Given the description of an element on the screen output the (x, y) to click on. 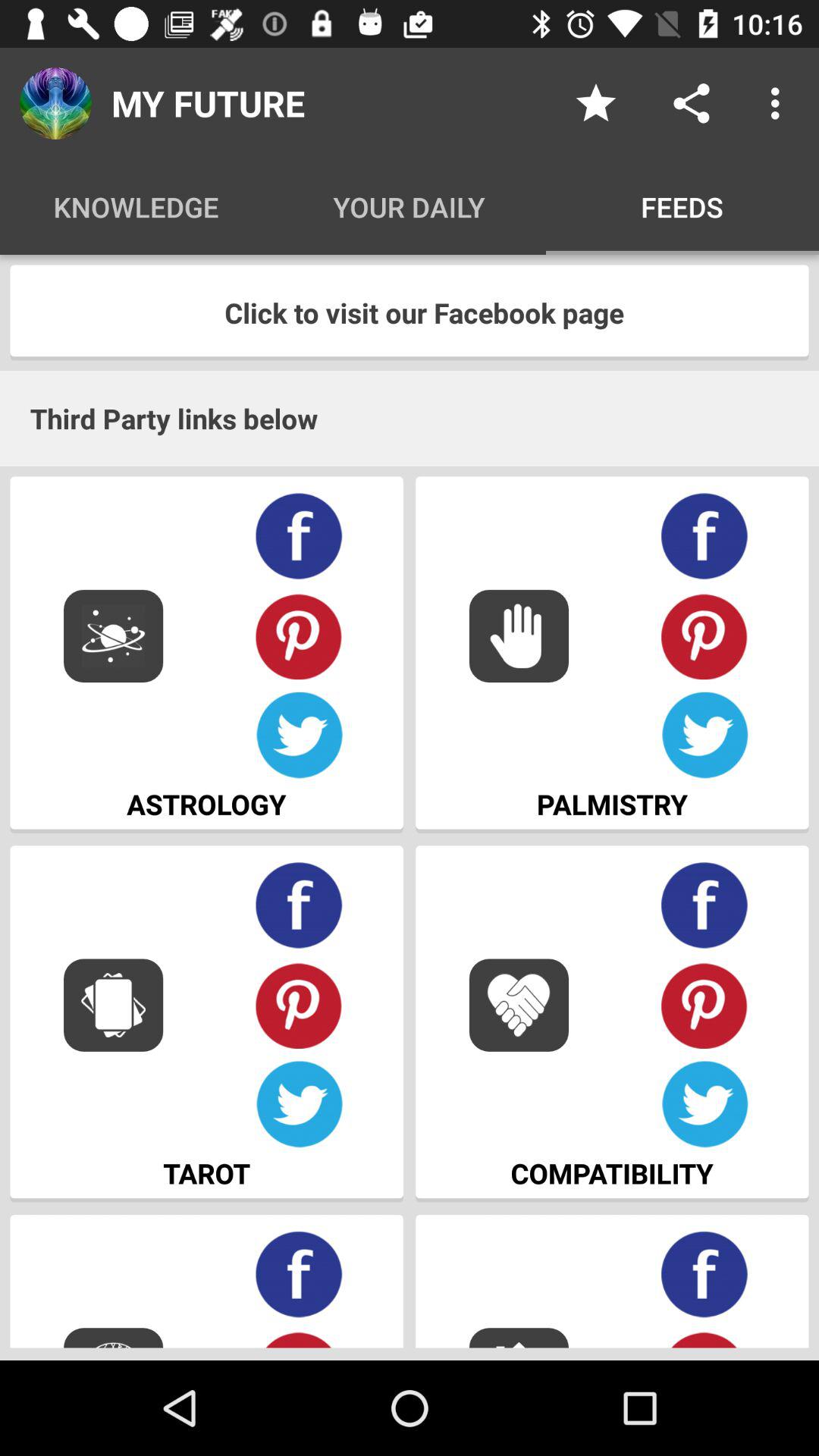
share on pinterest (704, 635)
